Given the description of an element on the screen output the (x, y) to click on. 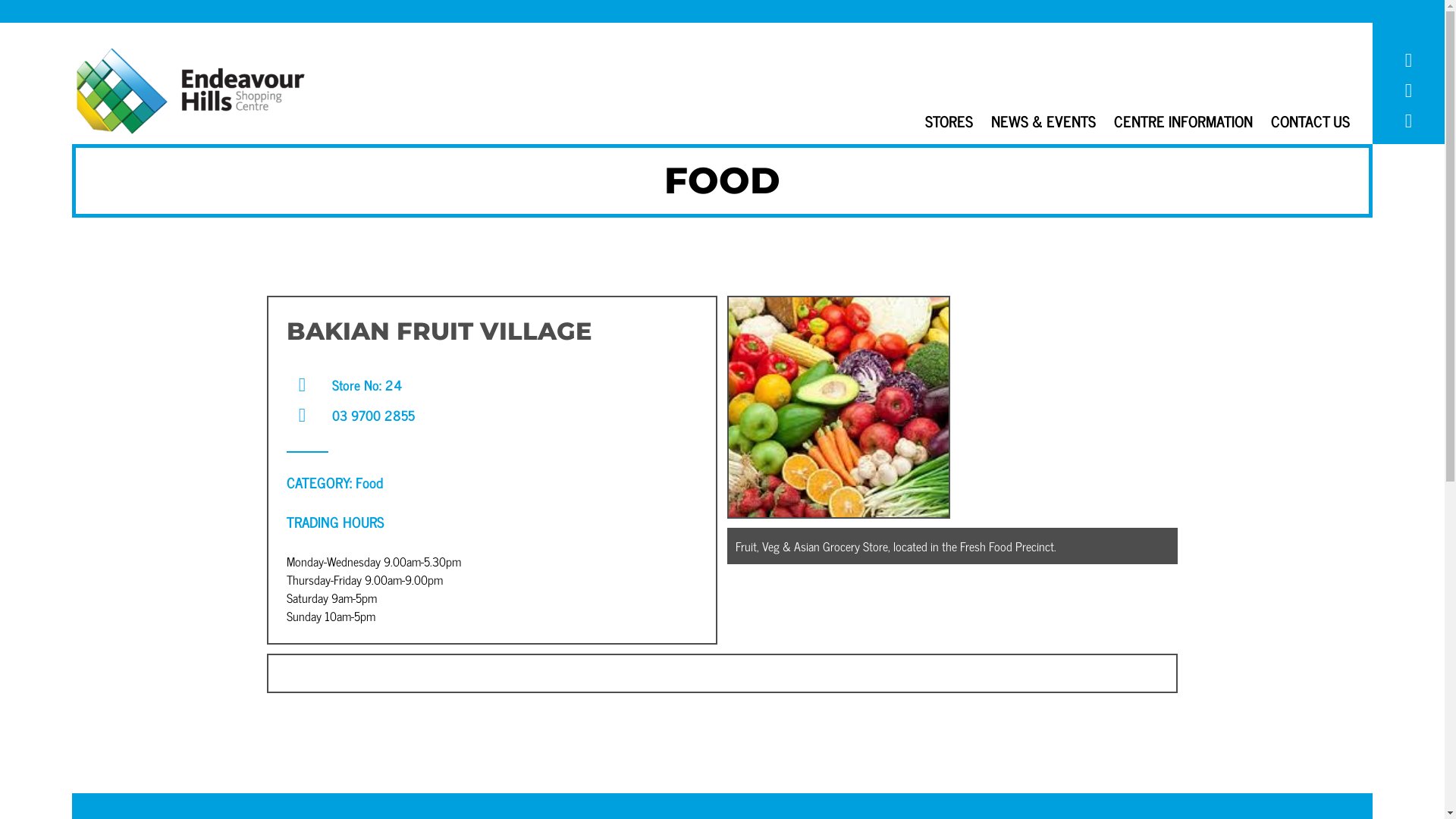
Facebook Element type: text (1408, 60)
Google map Element type: text (1408, 121)
CONTACT US Element type: text (1309, 121)
Instagram Element type: text (1408, 90)
NEWS & EVENTS Element type: text (1043, 121)
STORES Element type: text (948, 121)
CENTRE INFORMATION Element type: text (1182, 121)
03 9700 2855 Element type: text (373, 415)
Home Element type: text (190, 90)
